Given the description of an element on the screen output the (x, y) to click on. 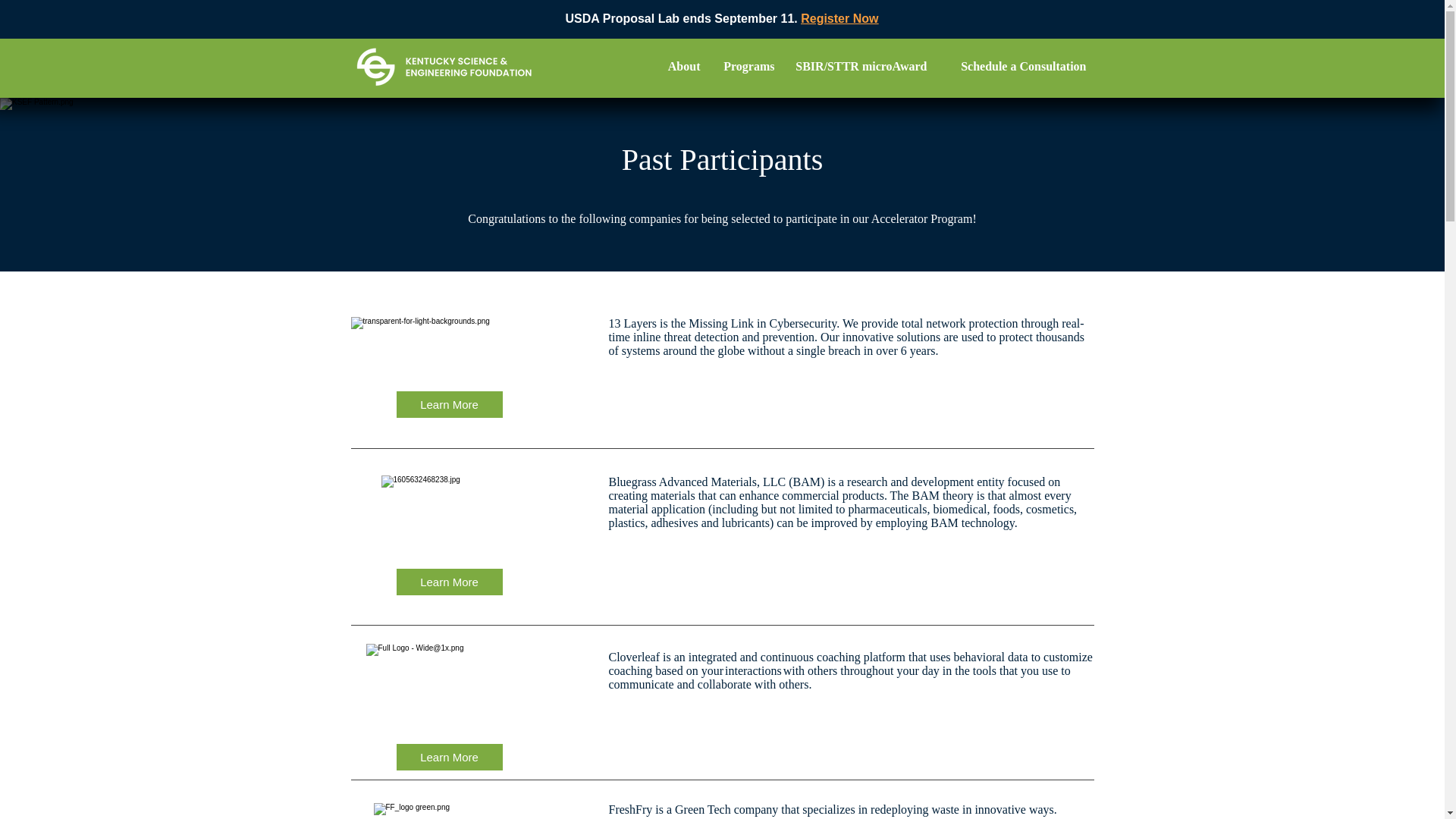
About (681, 66)
Schedule a Consultation (1013, 66)
Learn More (449, 404)
Register Now (838, 18)
Learn More (449, 756)
Learn More (449, 581)
